Given the description of an element on the screen output the (x, y) to click on. 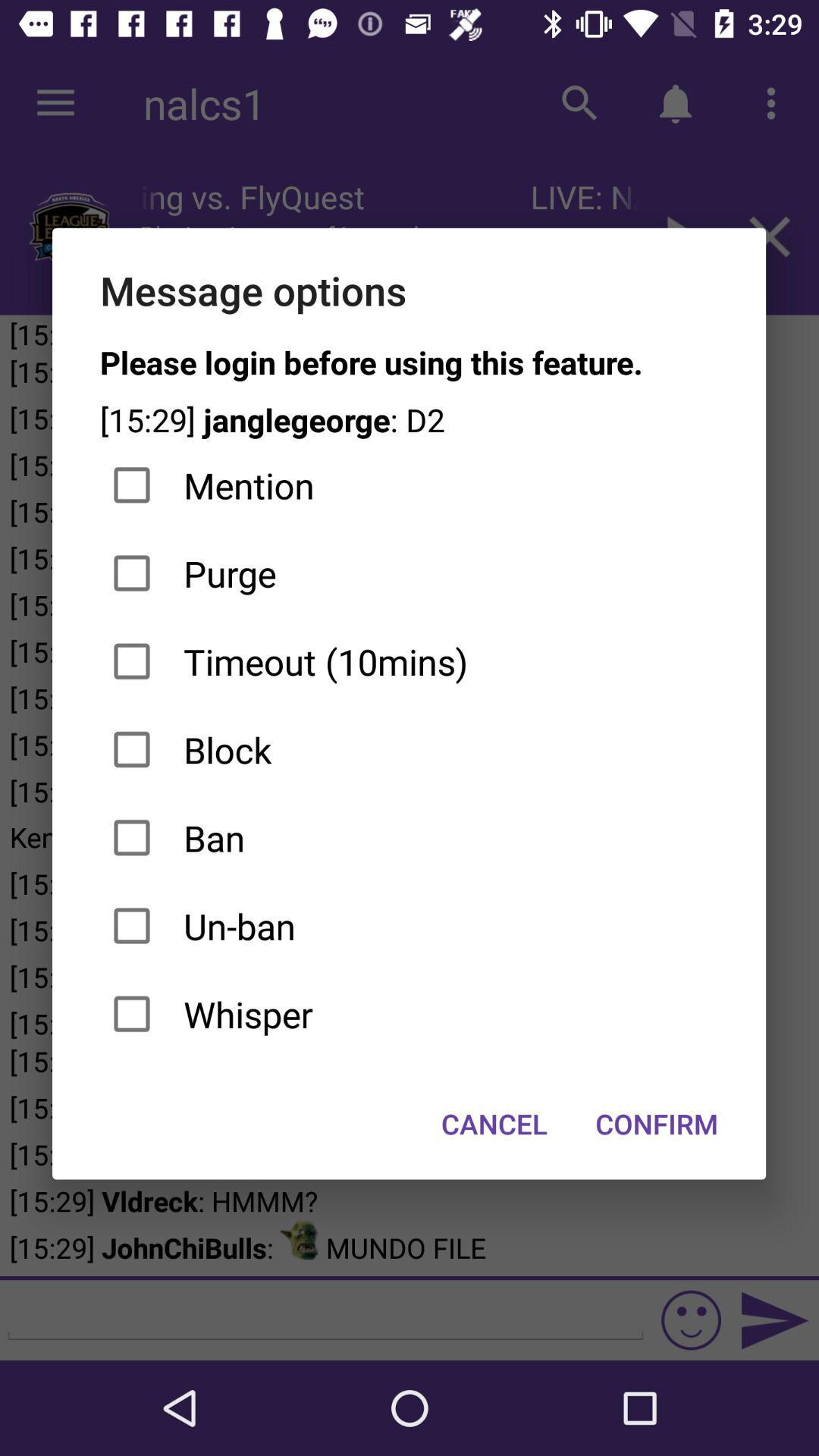
turn off the item below un-ban item (409, 1014)
